Given the description of an element on the screen output the (x, y) to click on. 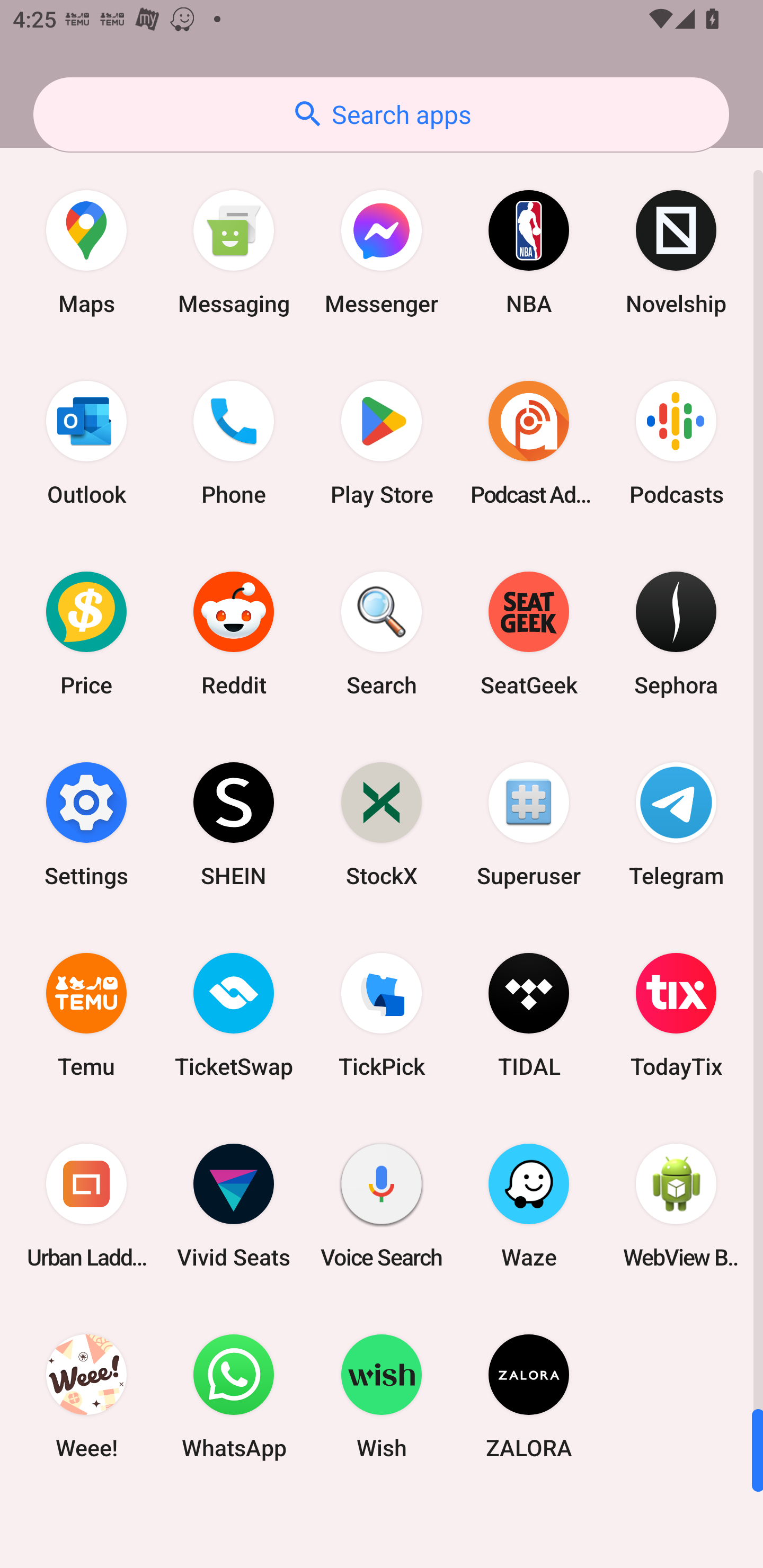
  Search apps (381, 114)
Maps (86, 252)
Messaging (233, 252)
Messenger (381, 252)
NBA (528, 252)
Novelship (676, 252)
Outlook (86, 442)
Phone (233, 442)
Play Store (381, 442)
Podcast Addict (528, 442)
Podcasts (676, 442)
Price (86, 633)
Reddit (233, 633)
Search (381, 633)
SeatGeek (528, 633)
Sephora (676, 633)
Settings (86, 823)
SHEIN (233, 823)
StockX (381, 823)
Superuser (528, 823)
Telegram (676, 823)
Temu (86, 1014)
TicketSwap (233, 1014)
TickPick (381, 1014)
TIDAL (528, 1014)
TodayTix (676, 1014)
Urban Ladder (86, 1205)
Vivid Seats (233, 1205)
Voice Search (381, 1205)
Waze (528, 1205)
WebView Browser Tester (676, 1205)
Weee! (86, 1396)
WhatsApp (233, 1396)
Wish (381, 1396)
ZALORA (528, 1396)
